Given the description of an element on the screen output the (x, y) to click on. 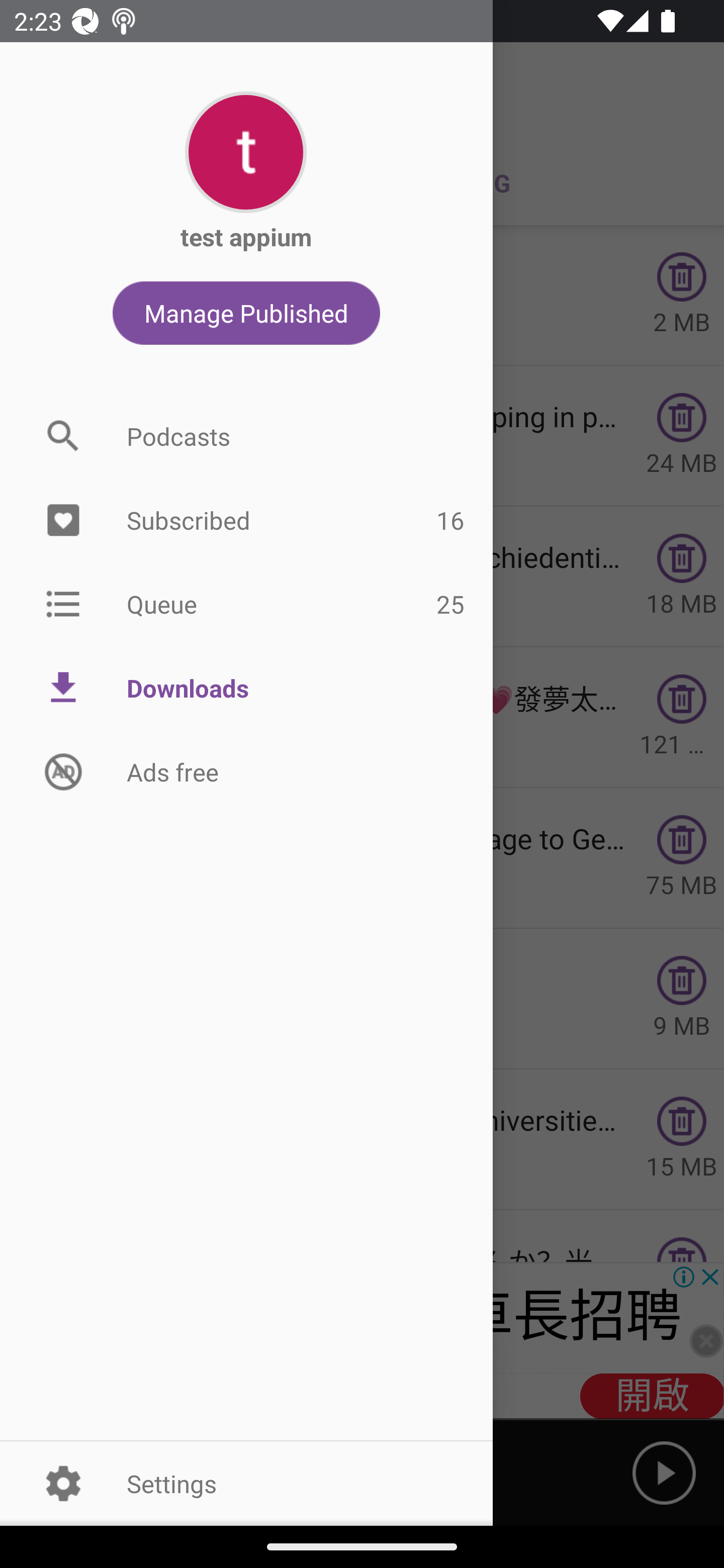
Manage Published (246, 312)
Picture Podcasts (246, 435)
Picture Subscribed 16 (246, 520)
Picture Queue 25 (246, 603)
Picture Downloads (246, 688)
Picture Ads free (246, 771)
Settings Picture Settings (246, 1482)
